Given the description of an element on the screen output the (x, y) to click on. 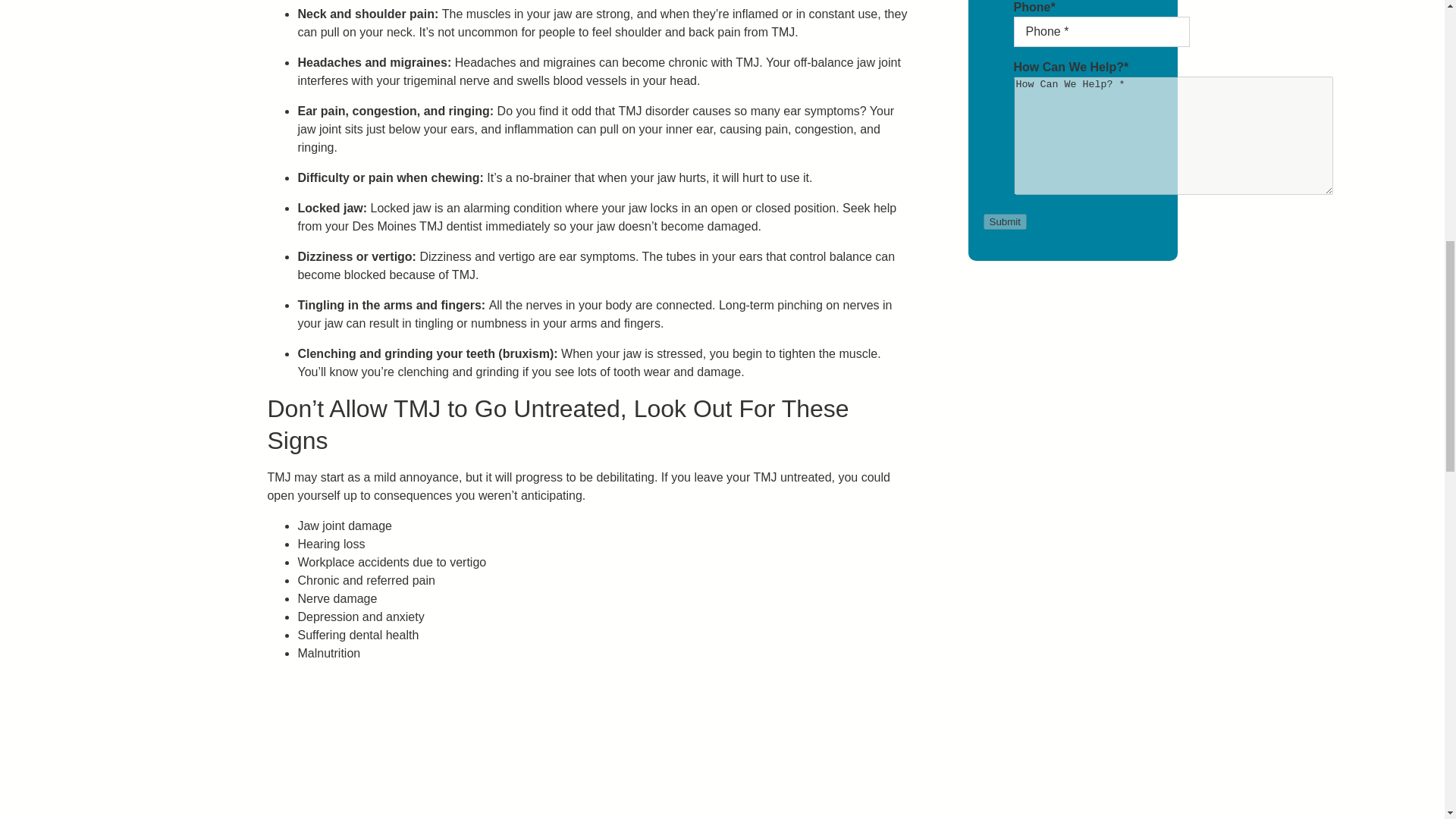
Submit (1004, 221)
TMJ untreated (791, 477)
Headaches and migraines (524, 62)
Submit (1004, 221)
